Given the description of an element on the screen output the (x, y) to click on. 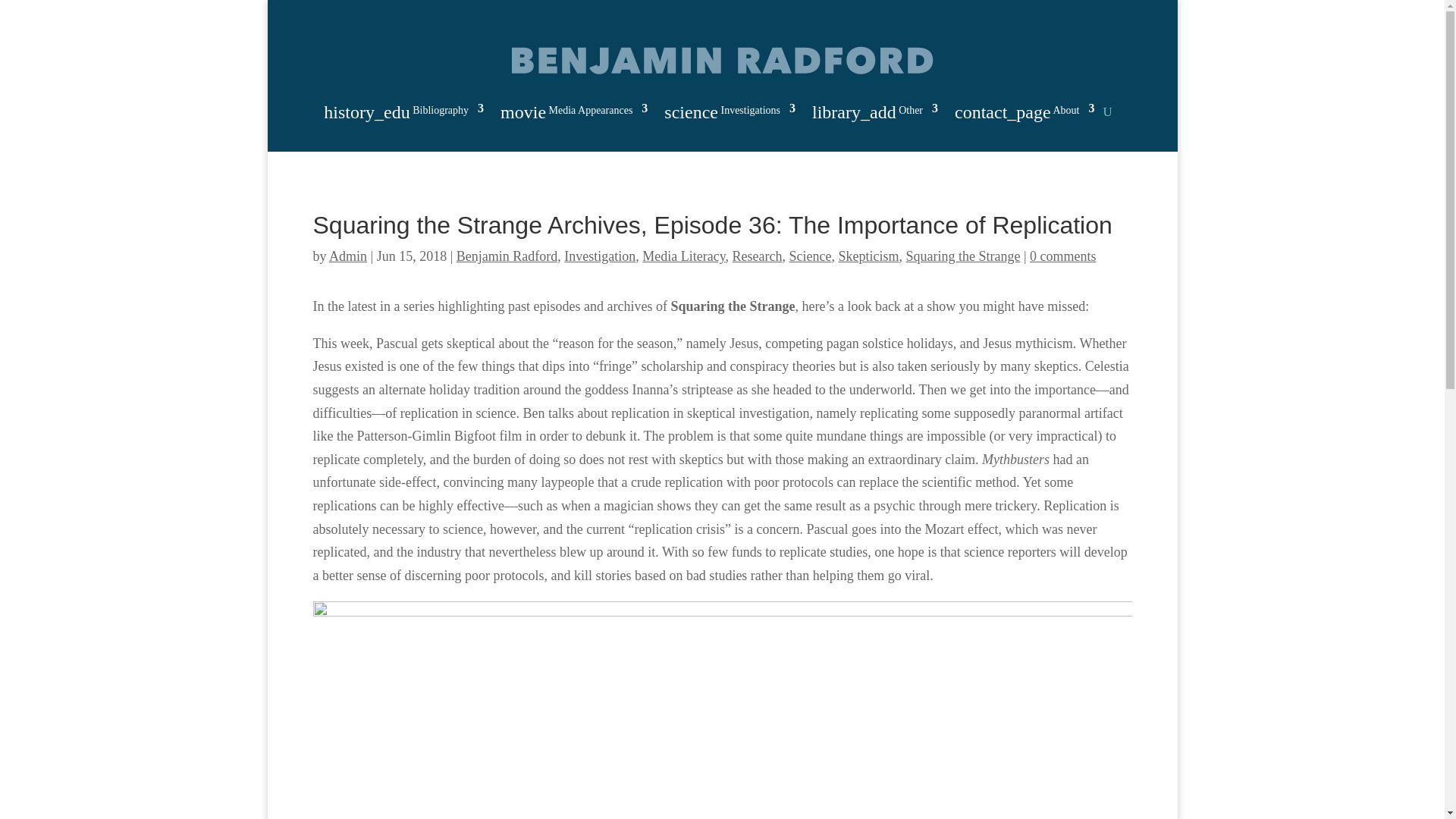
science Investigations (728, 115)
movie Media Appearances (573, 115)
toplogoBig (722, 59)
Posts by Admin (347, 255)
